Given the description of an element on the screen output the (x, y) to click on. 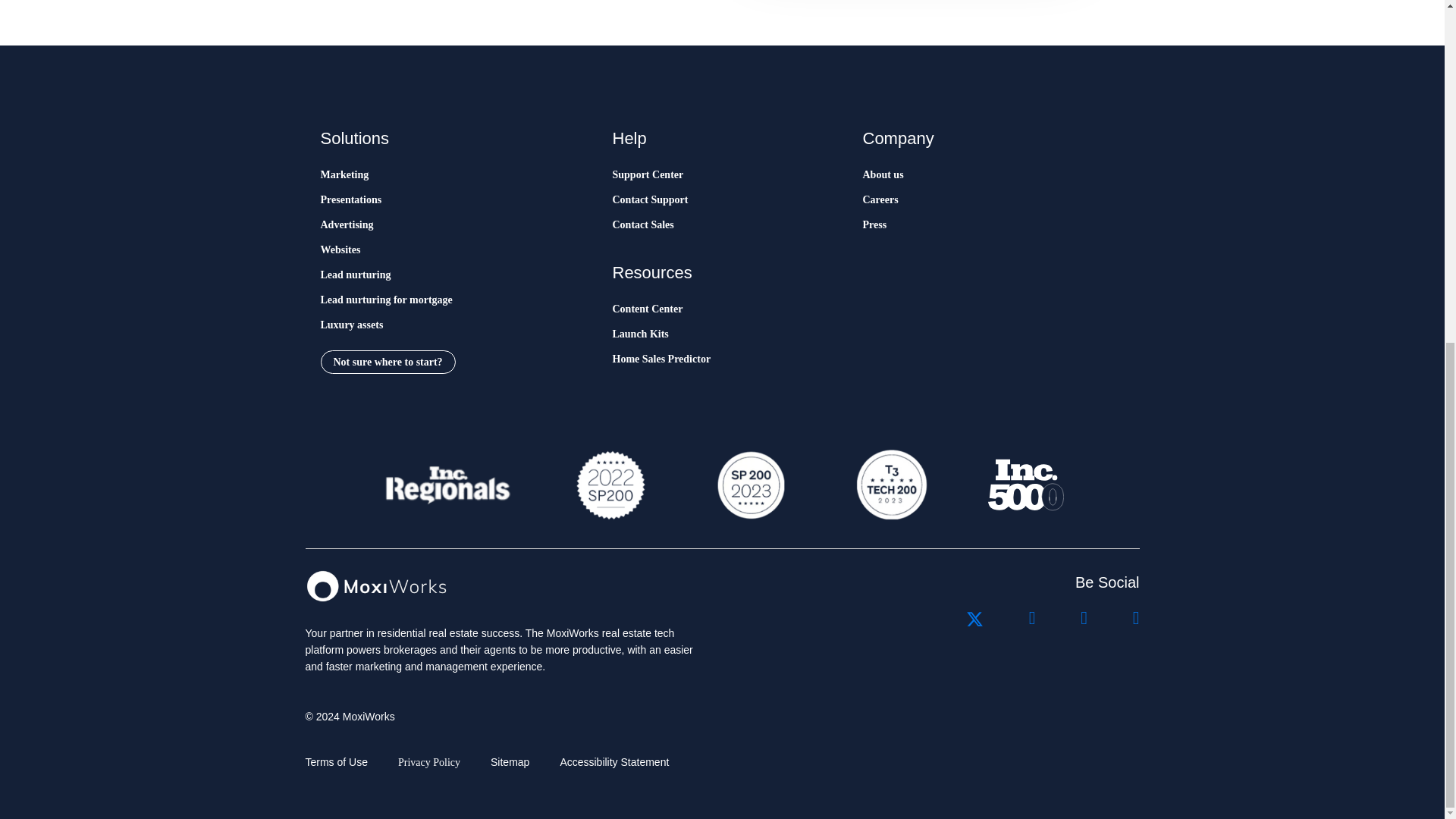
SP 2022 (610, 484)
T3 tech 200 2023 (890, 484)
SP 2023 (749, 484)
